Given the description of an element on the screen output the (x, y) to click on. 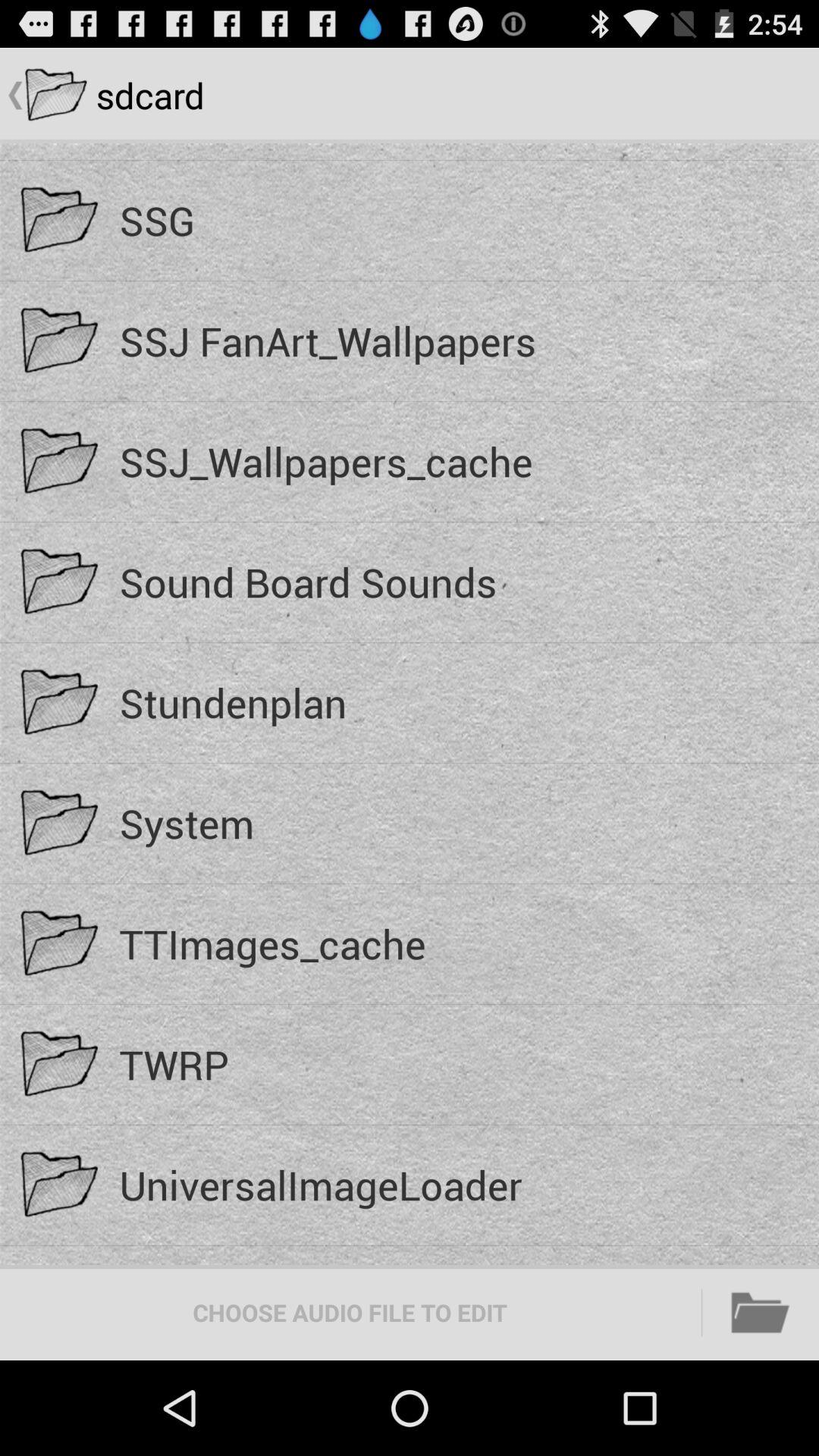
tap item to the right of the choose audio file icon (760, 1312)
